Given the description of an element on the screen output the (x, y) to click on. 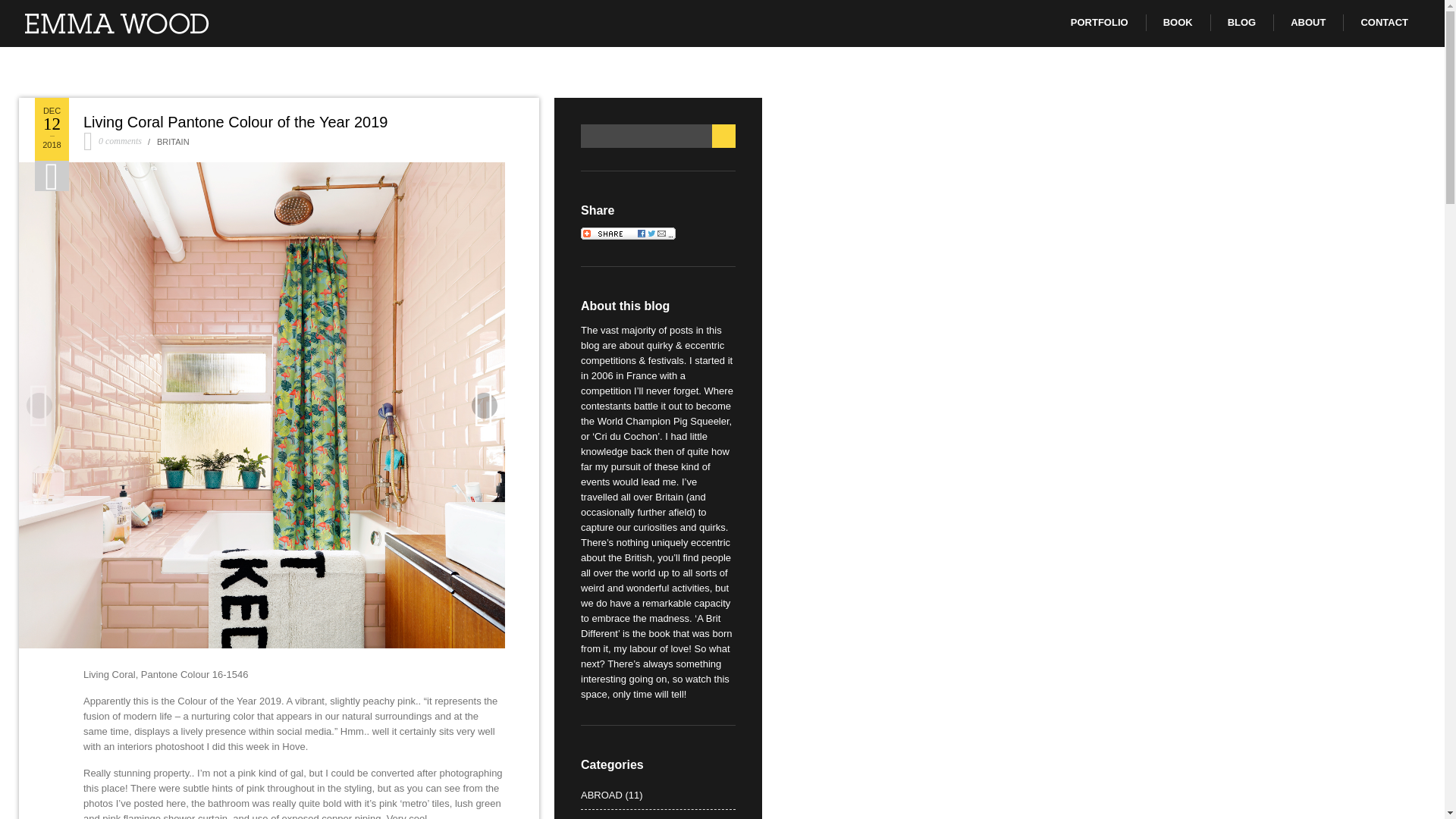
ABOUT (1308, 22)
BRITAIN (173, 141)
BOOK (1177, 22)
ABROAD (601, 794)
Search (723, 136)
CONTACT (1383, 22)
PORTFOLIO (1099, 22)
Search (723, 136)
Living Coral Pantone Colour of the Year 2019 (234, 121)
BRITAIN (599, 818)
BLOG (1241, 22)
